Given the description of an element on the screen output the (x, y) to click on. 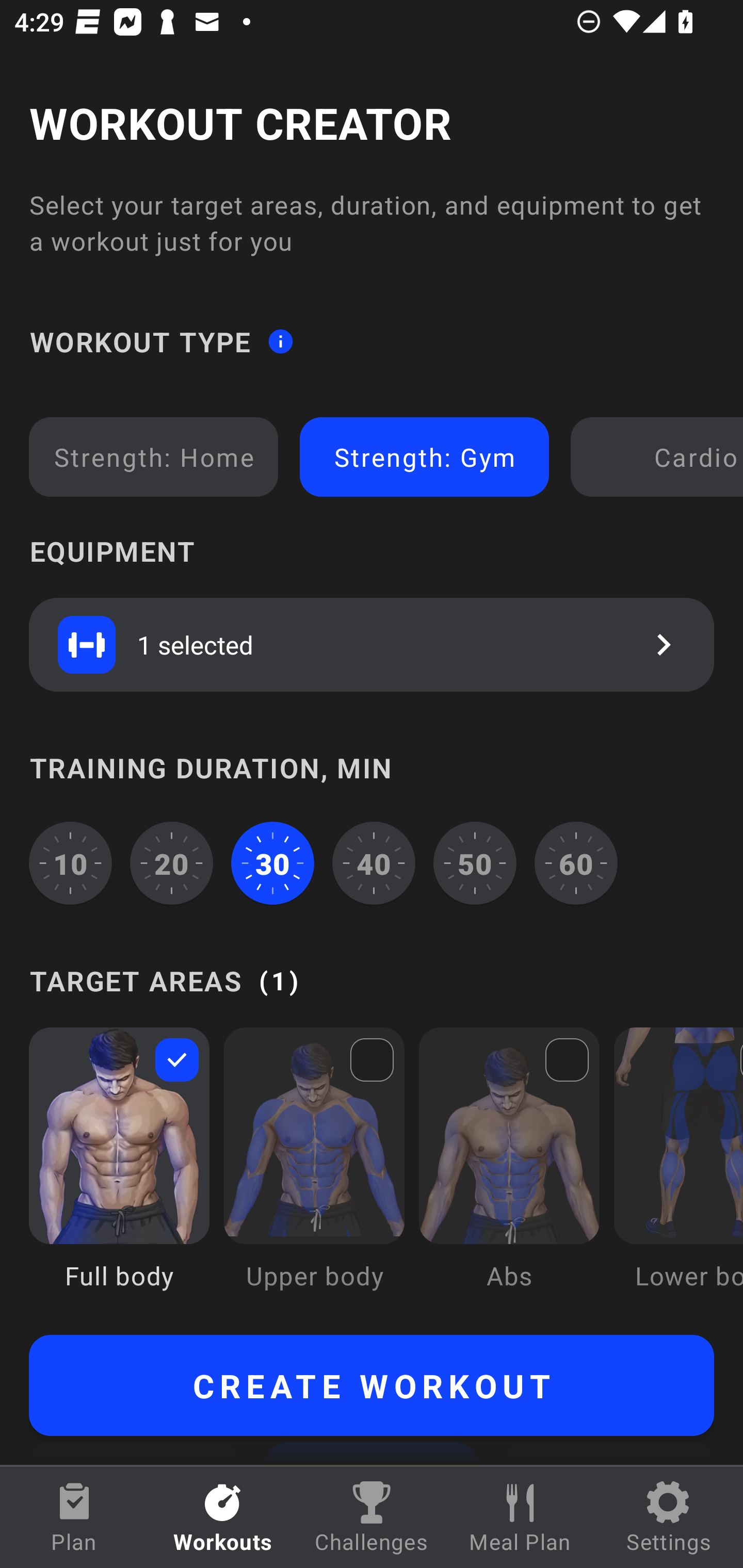
Workout type information button (280, 340)
Strength: Home (153, 457)
Cardio (660, 457)
1 selected (371, 644)
10 (70, 863)
20 (171, 863)
30 (272, 863)
40 (373, 863)
50 (474, 863)
60 (575, 863)
Upper body (313, 1172)
Abs (509, 1172)
Lower body (678, 1172)
CREATE WORKOUT (371, 1385)
 Plan  (74, 1517)
 Challenges  (371, 1517)
 Meal Plan  (519, 1517)
 Settings  (668, 1517)
